Given the description of an element on the screen output the (x, y) to click on. 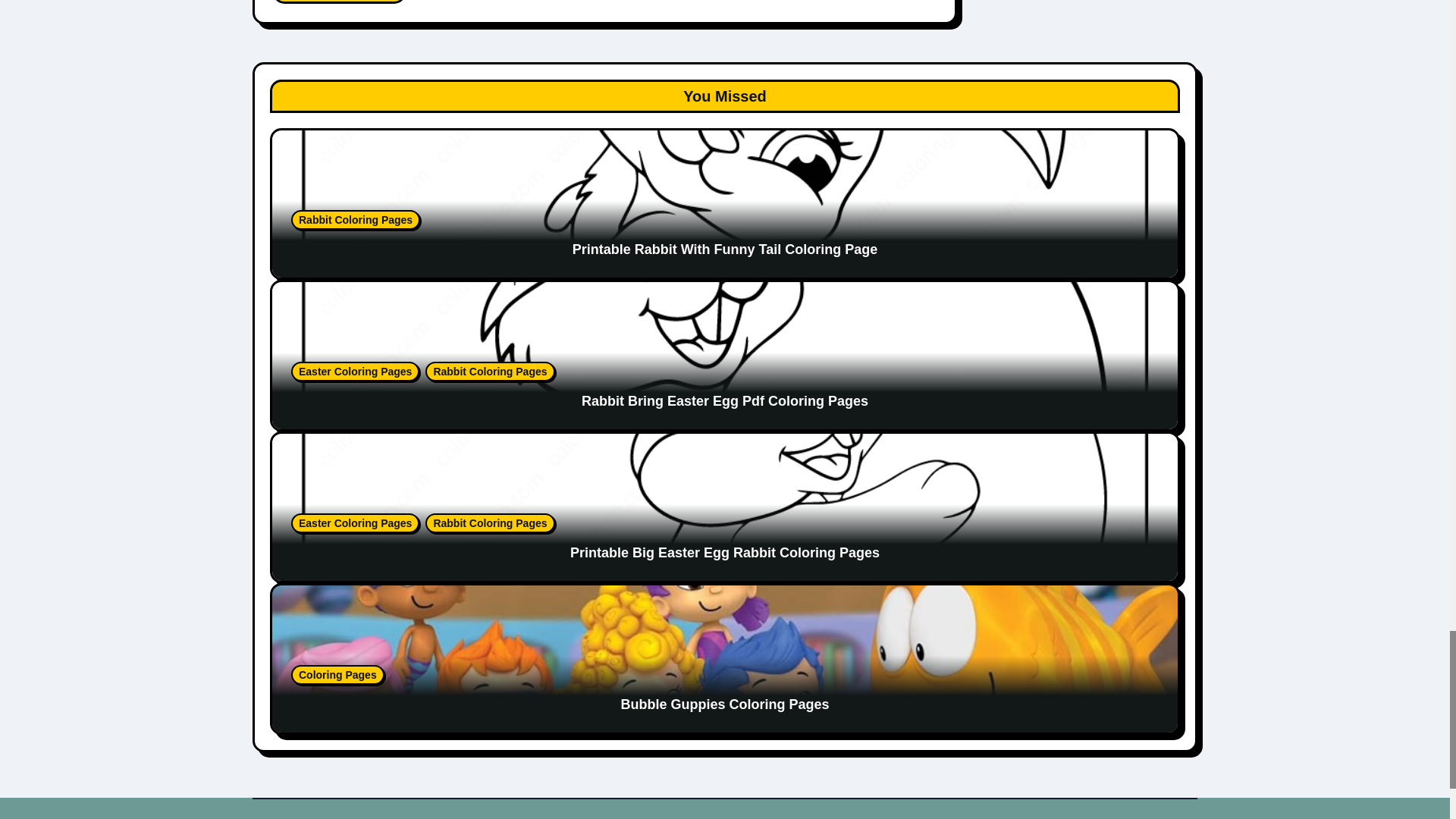
Post Comment (339, 2)
